Given the description of an element on the screen output the (x, y) to click on. 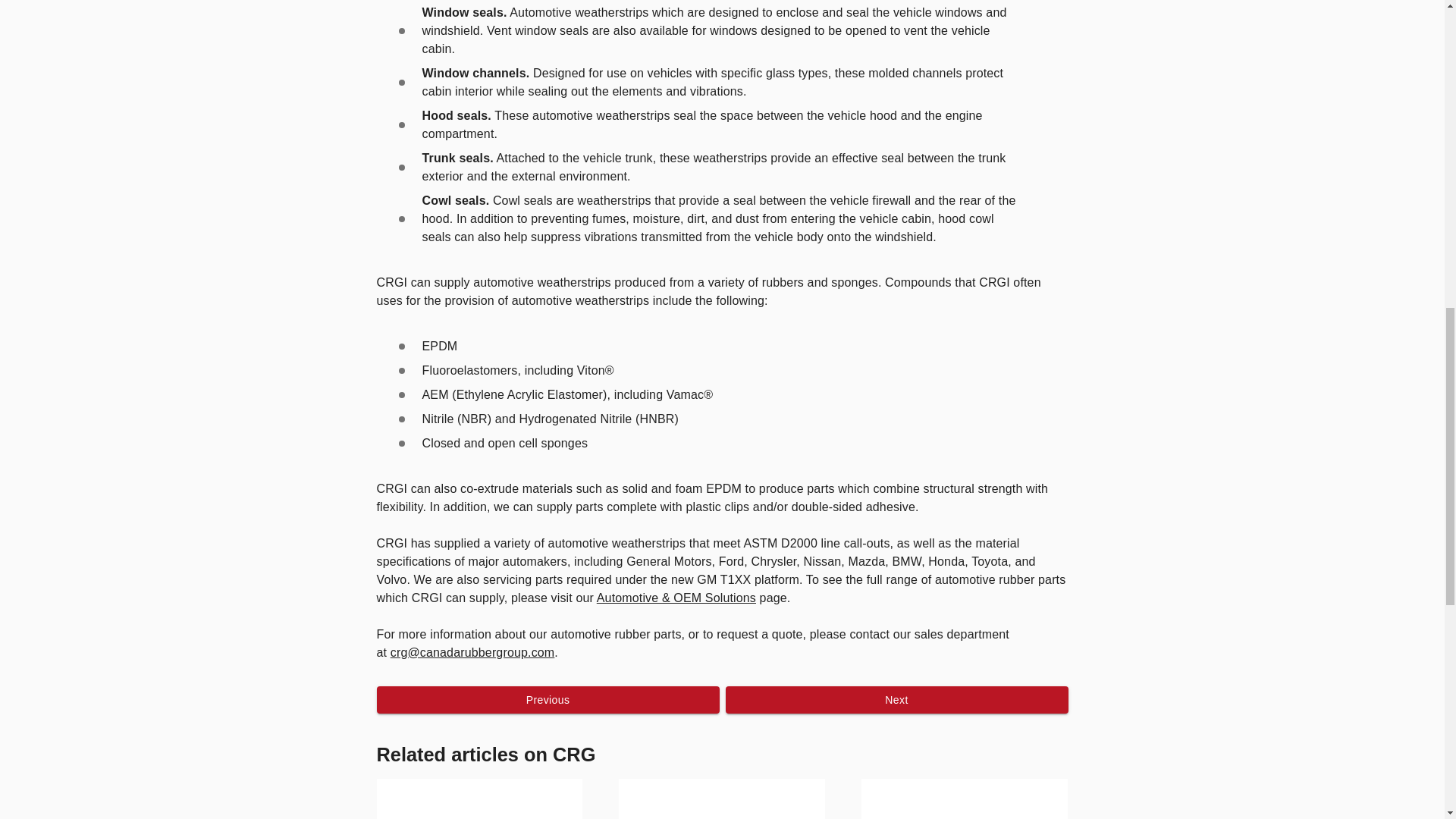
Next (896, 700)
Previous (547, 700)
